Given the description of an element on the screen output the (x, y) to click on. 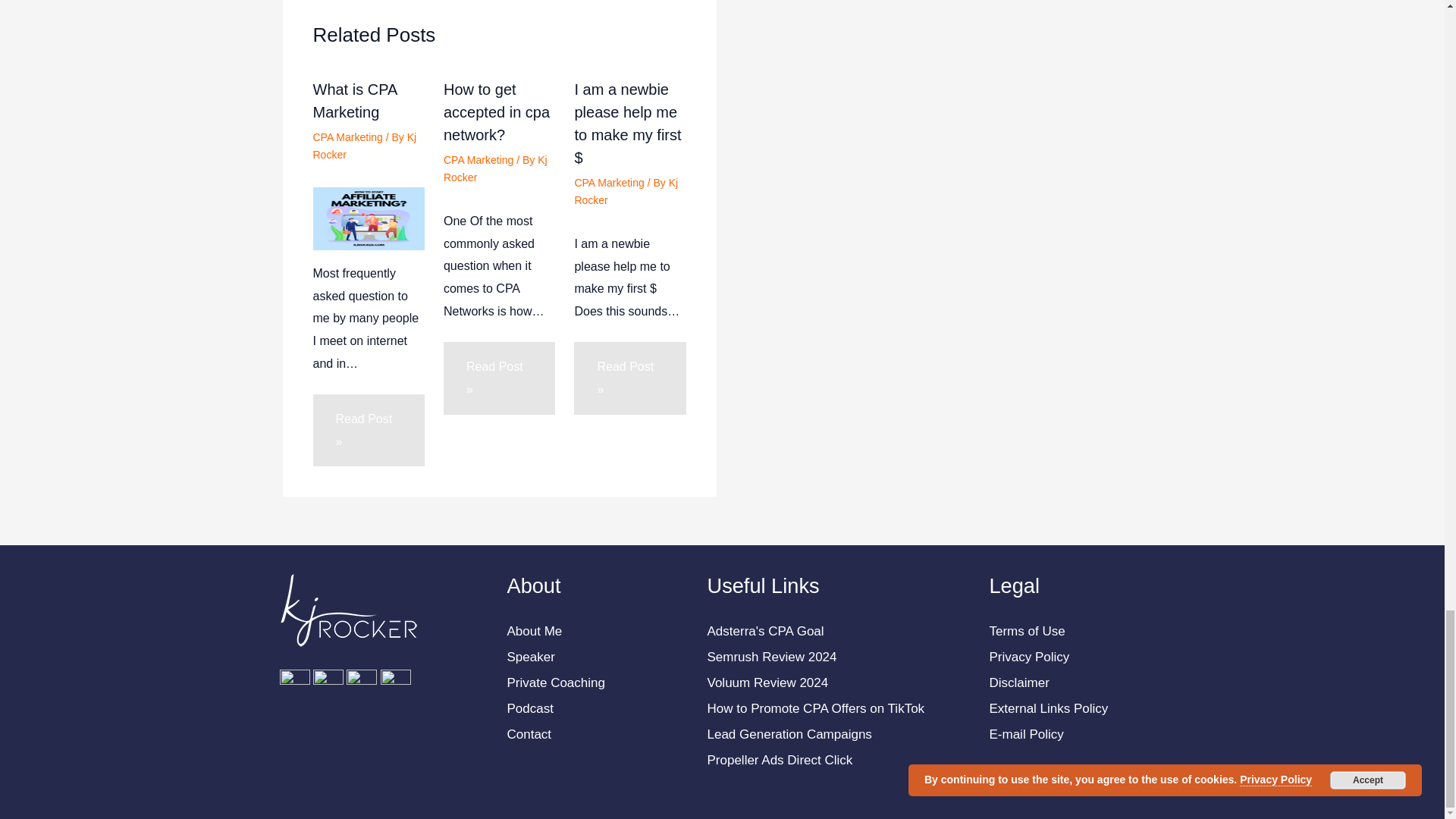
View all posts by Kj Rocker (364, 145)
View all posts by Kj Rocker (625, 190)
View all posts by Kj Rocker (495, 167)
